Given the description of an element on the screen output the (x, y) to click on. 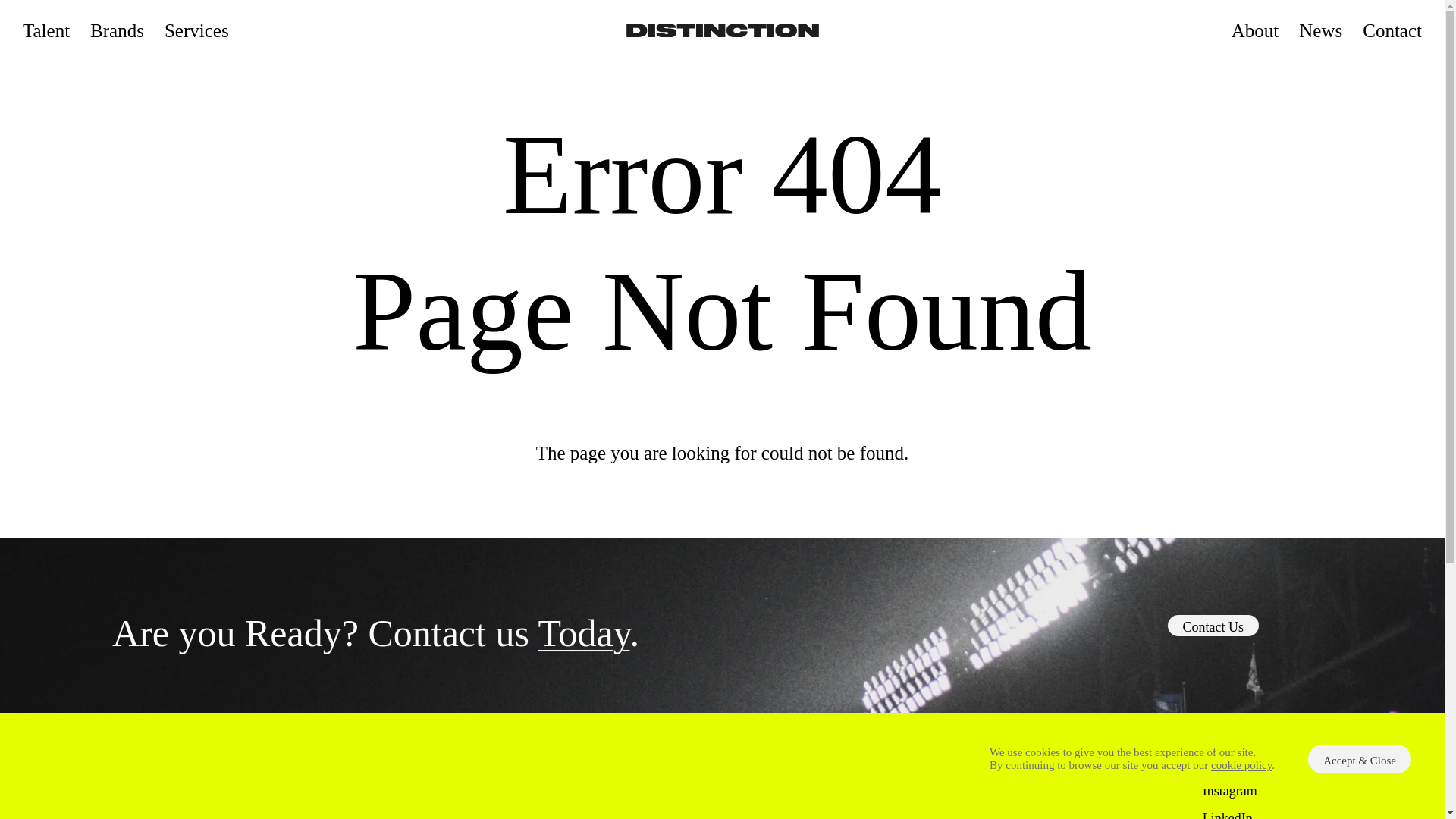
Contact Us (1213, 625)
News (1320, 29)
Services (196, 29)
About (1255, 29)
LinkedIn (1227, 814)
Instagram (1229, 790)
Talent (46, 29)
Contact (1392, 29)
Brands (117, 29)
cookie policy (1241, 765)
